Given the description of an element on the screen output the (x, y) to click on. 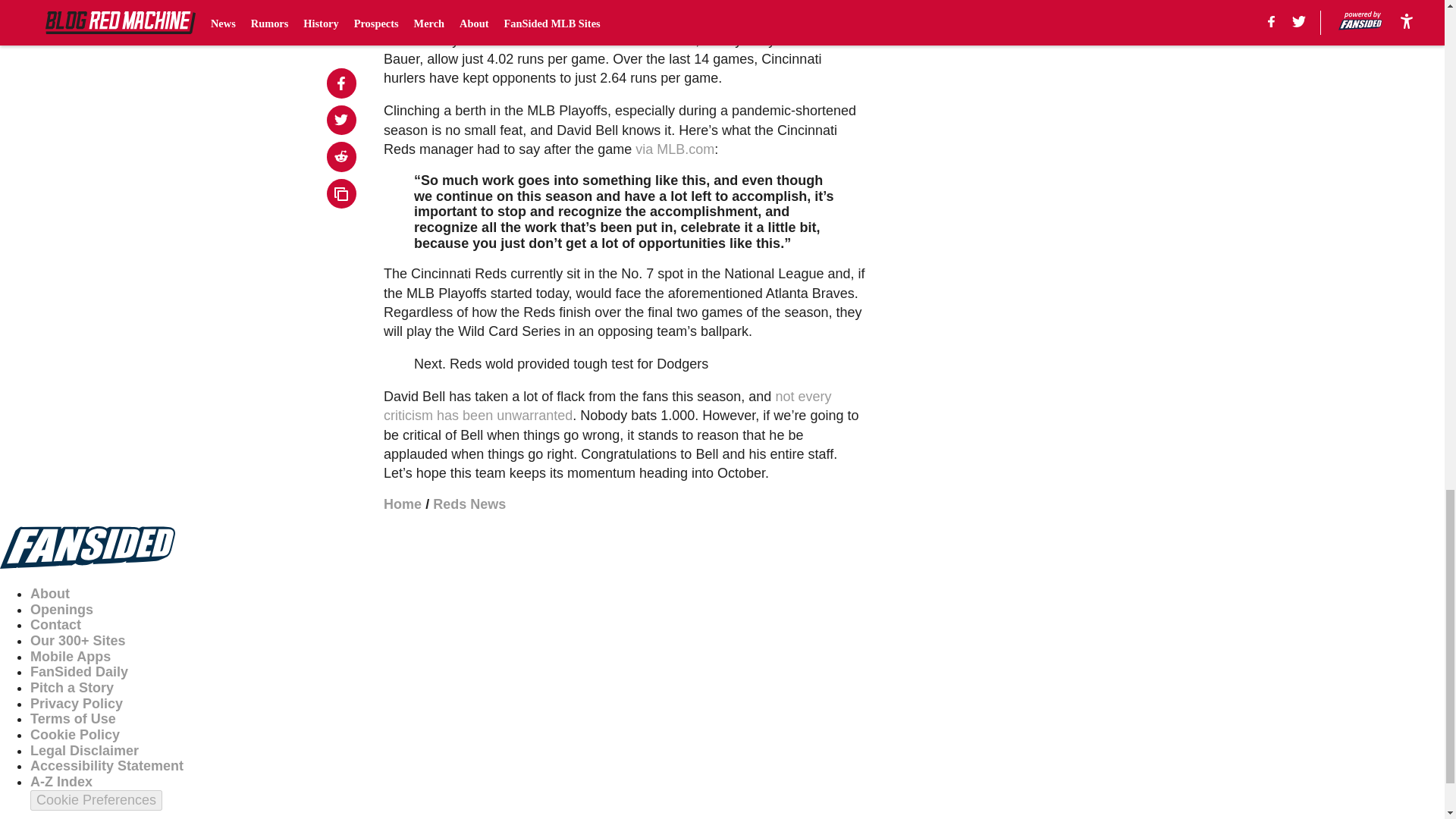
Contact (55, 624)
About (49, 593)
via MLB.com (674, 149)
FanSided Daily (79, 671)
Reds News (468, 503)
Mobile Apps (70, 656)
Openings (61, 609)
not every criticism has been unwarranted (607, 406)
Home (403, 503)
